Given the description of an element on the screen output the (x, y) to click on. 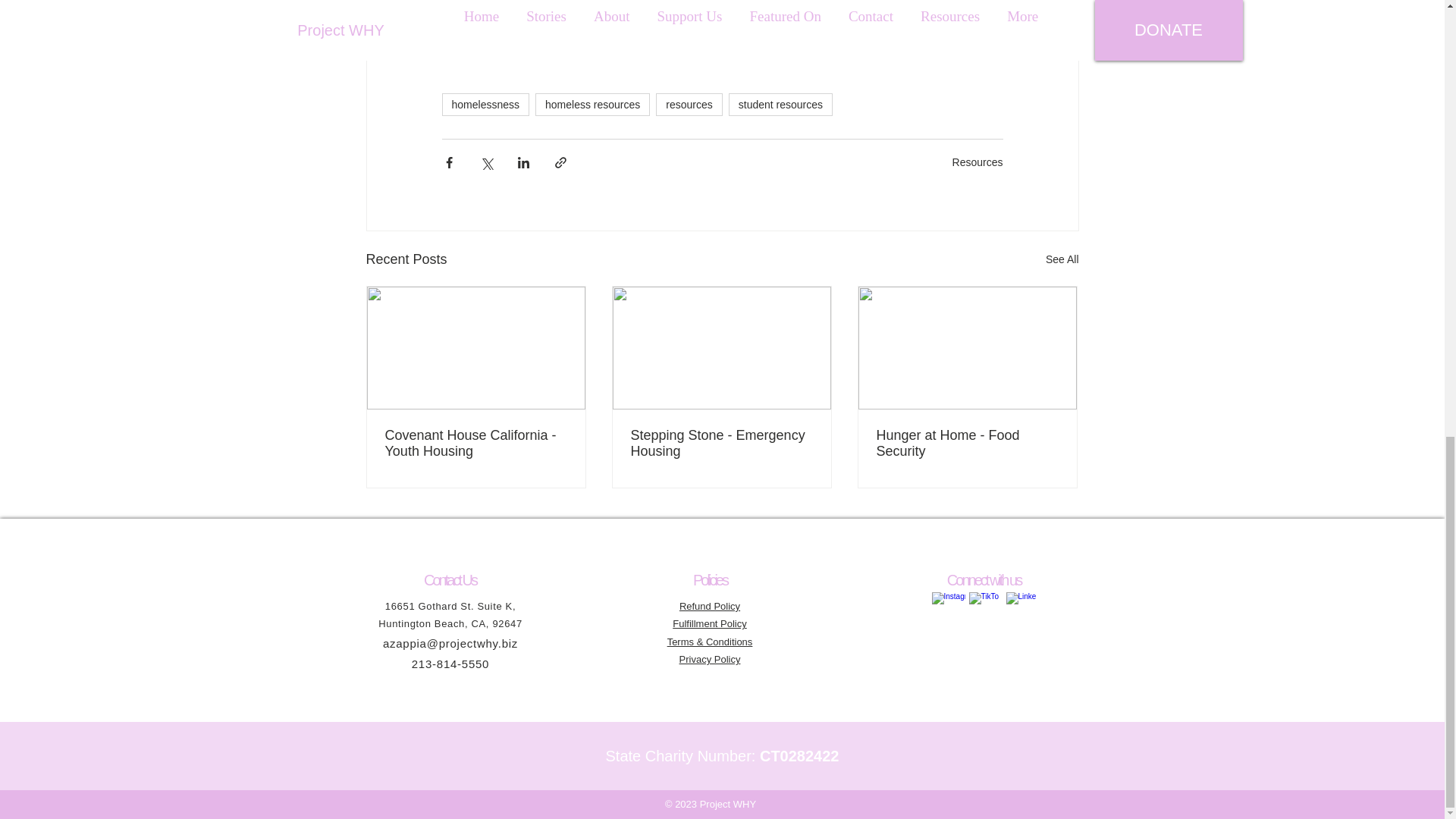
here (845, 47)
Policies (709, 579)
resources (689, 104)
Hunger at Home - Food Security (967, 443)
Covenant House California - Youth Housing (476, 443)
student resources (780, 104)
Stepping Stone - Emergency Housing (721, 443)
Resources (977, 162)
homelessness (485, 104)
homeless resources (592, 104)
